Given the description of an element on the screen output the (x, y) to click on. 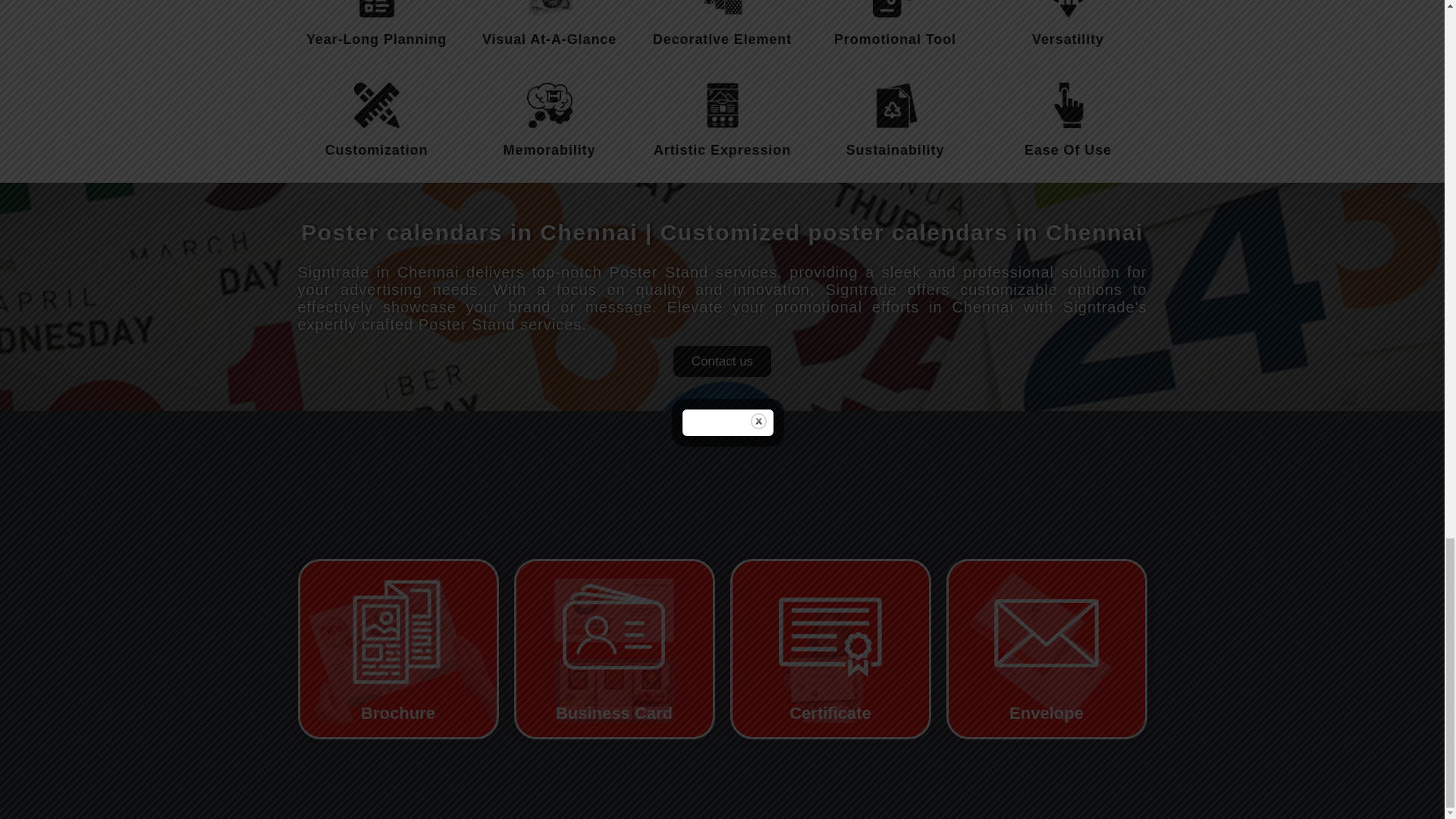
checklist (375, 8)
paper-recycle (894, 104)
paper (721, 8)
finger (1067, 104)
Eye1 (548, 8)
promotion (894, 8)
memory (548, 104)
versatility (1067, 8)
pencil-and-ruler (375, 104)
